Given the description of an element on the screen output the (x, y) to click on. 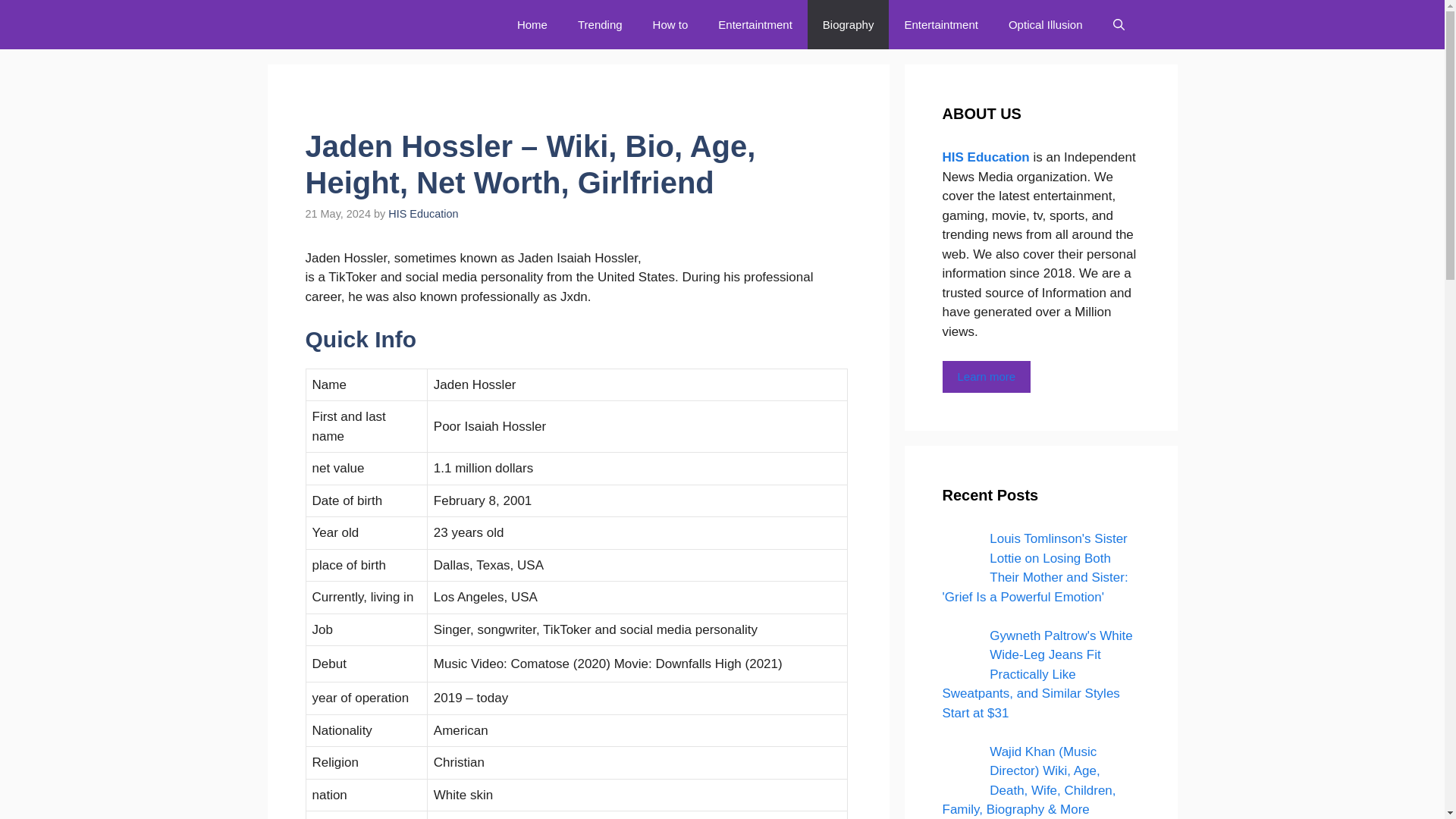
How to (670, 24)
Entertaintment (755, 24)
Biography (848, 24)
HIS Education (390, 24)
Optical Illusion (1044, 24)
Entertaintment (940, 24)
HIS Education (987, 156)
Trending (599, 24)
Learn more (986, 377)
HIS Education (423, 214)
View all posts by HIS Education (423, 214)
Home (532, 24)
